Given the description of an element on the screen output the (x, y) to click on. 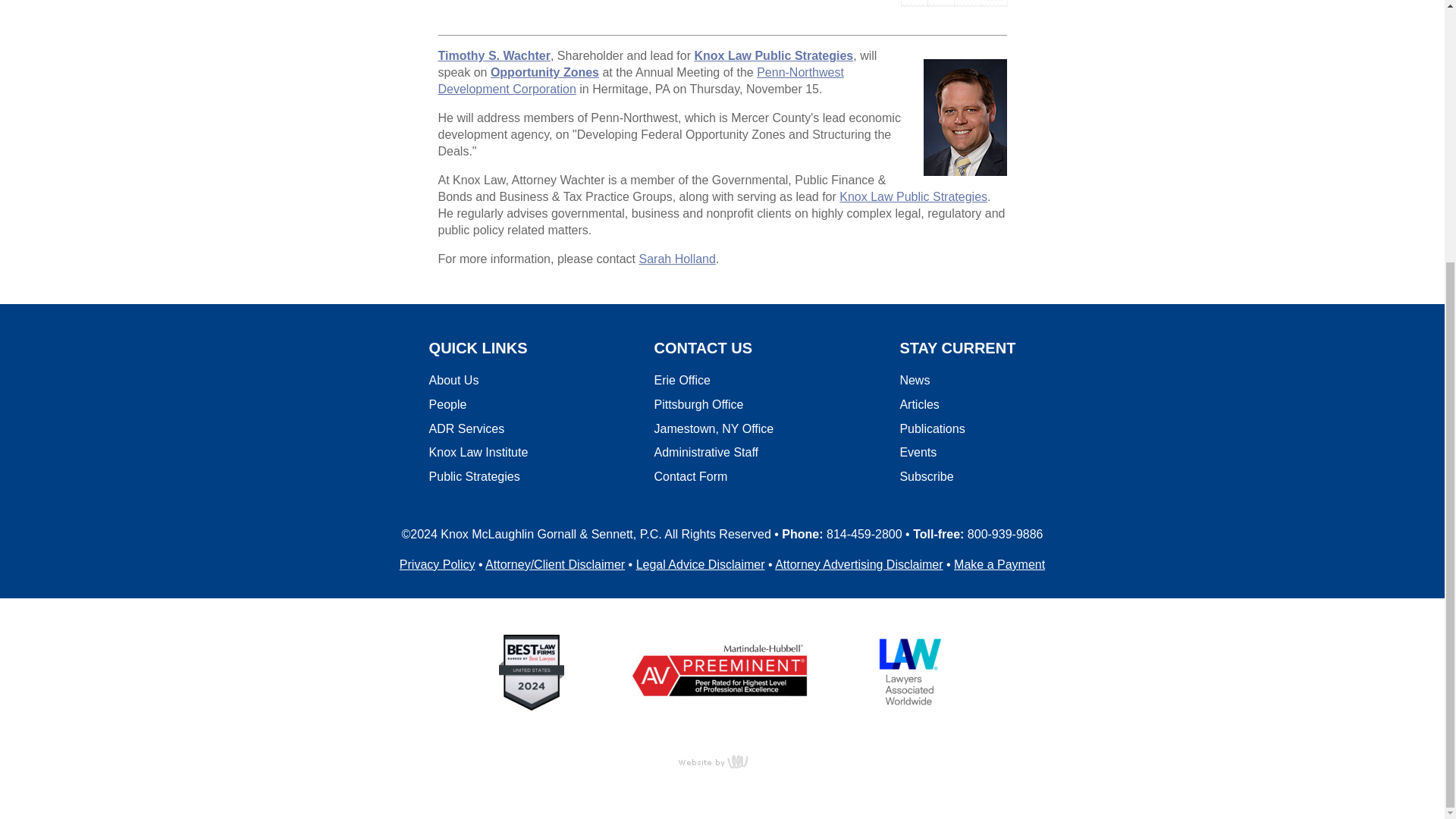
Share on LinkedIn (966, 2)
Tweet (939, 2)
Email (993, 2)
Share on Facebook (914, 2)
